Given the description of an element on the screen output the (x, y) to click on. 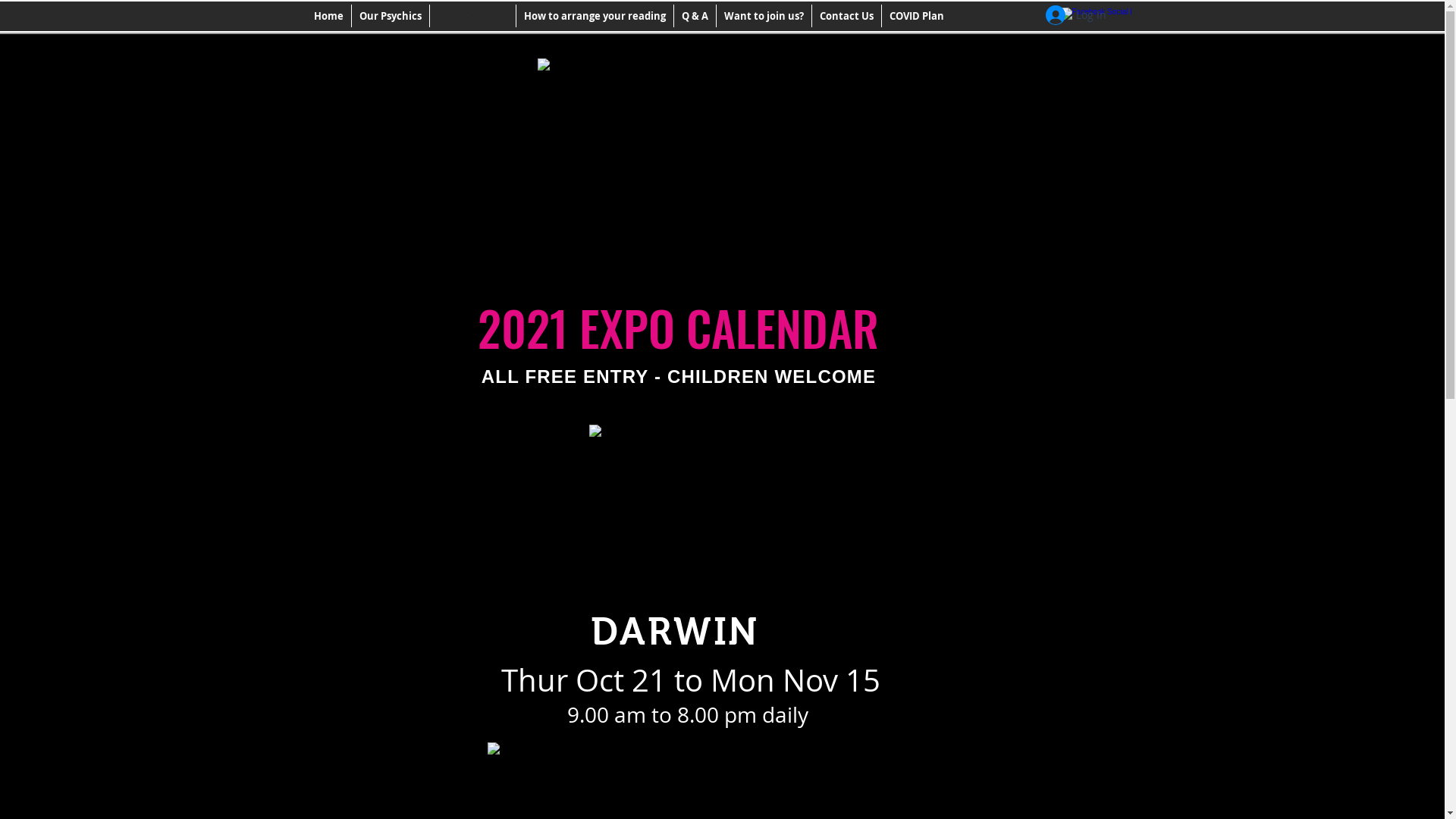
COVID Plan Element type: text (916, 15)
Want to join us? Element type: text (763, 15)
Q & A Element type: text (694, 15)
Our Psychics Element type: text (390, 15)
Log In Element type: text (1075, 14)
Home Element type: text (328, 15)
Contact Us Element type: text (846, 15)
Expo Calendar Element type: text (472, 15)
How to arrange your reading Element type: text (594, 15)
